Given the description of an element on the screen output the (x, y) to click on. 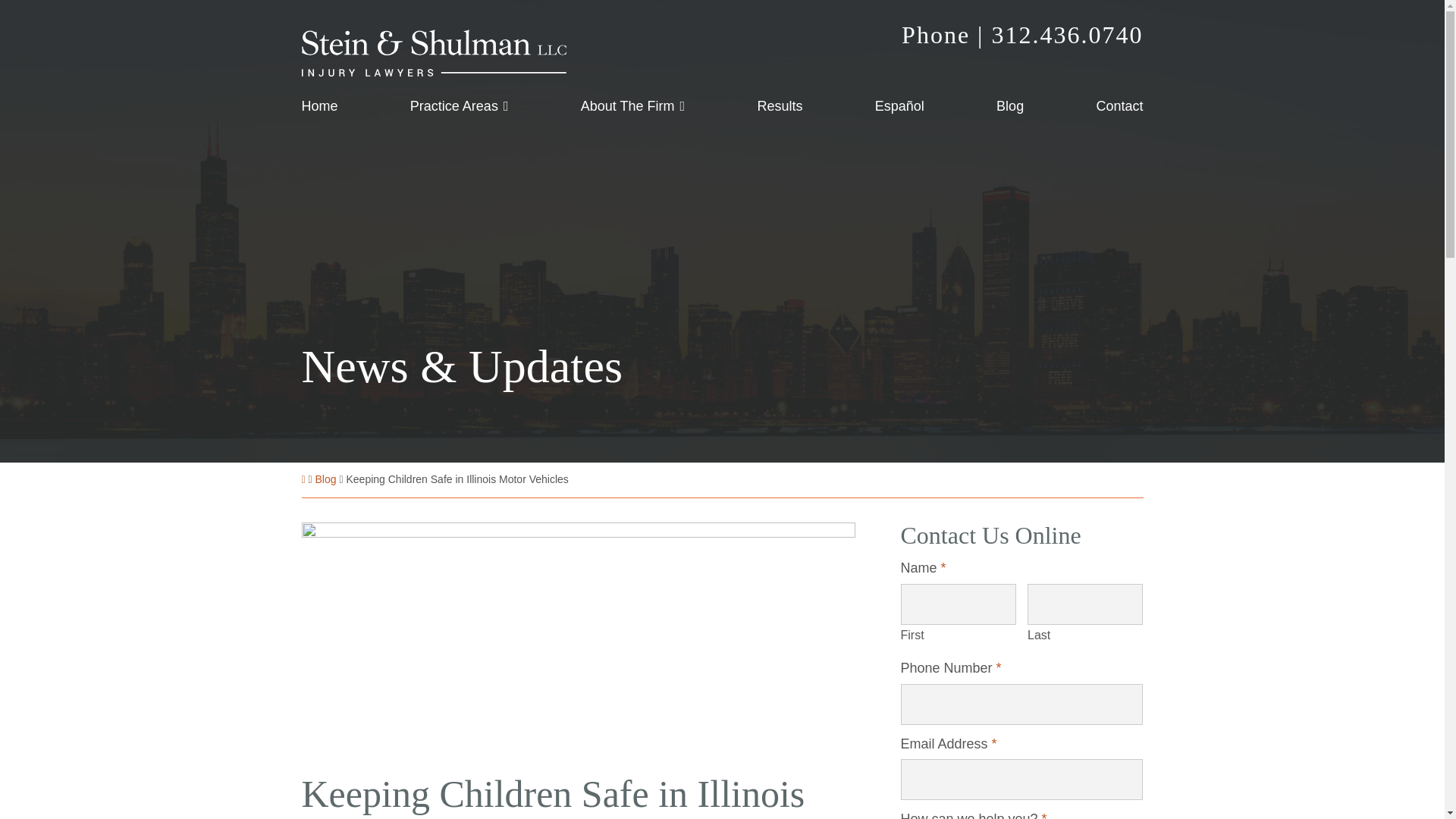
Practice Areas (459, 107)
Home (319, 107)
Return home (434, 52)
